Given the description of an element on the screen output the (x, y) to click on. 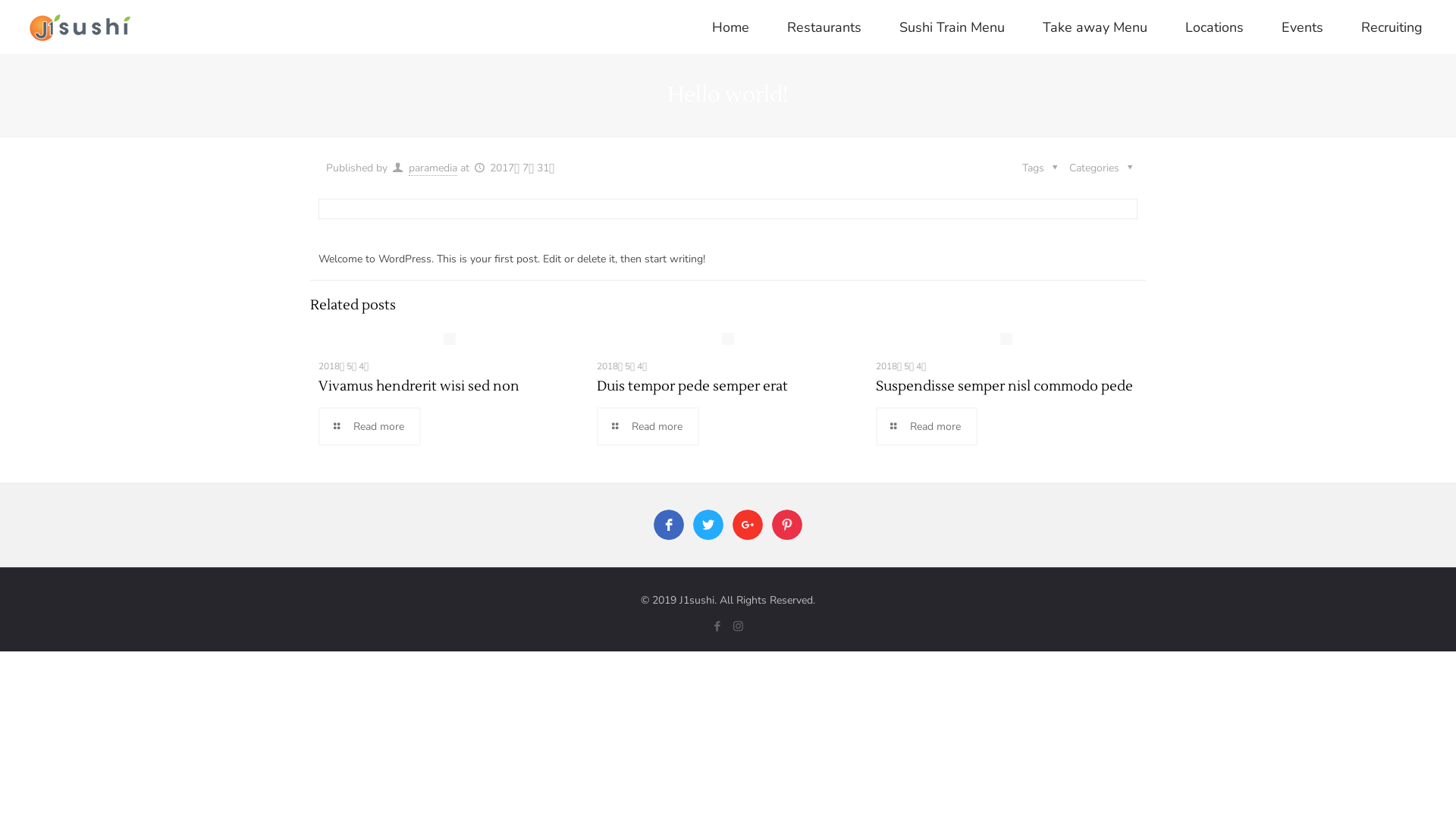
Facebook Element type: hover (717, 625)
Suspendisse semper nisl commodo pede Element type: text (1003, 386)
Vivamus hendrerit wisi sed non Element type: text (418, 386)
Read more Element type: text (369, 426)
Locations Element type: text (1214, 26)
Duis tempor pede semper erat Element type: text (691, 386)
Read more Element type: text (647, 426)
Restaurants Element type: text (824, 26)
Take away Menu Element type: text (1094, 26)
Sushi Train Menu Element type: text (951, 26)
J1sushi Element type: hover (80, 26)
Instagram Element type: hover (738, 625)
Home Element type: text (730, 26)
Recruiting Element type: text (1391, 26)
Read more Element type: text (926, 426)
Events Element type: text (1302, 26)
paramedia Element type: text (432, 167)
